Given the description of an element on the screen output the (x, y) to click on. 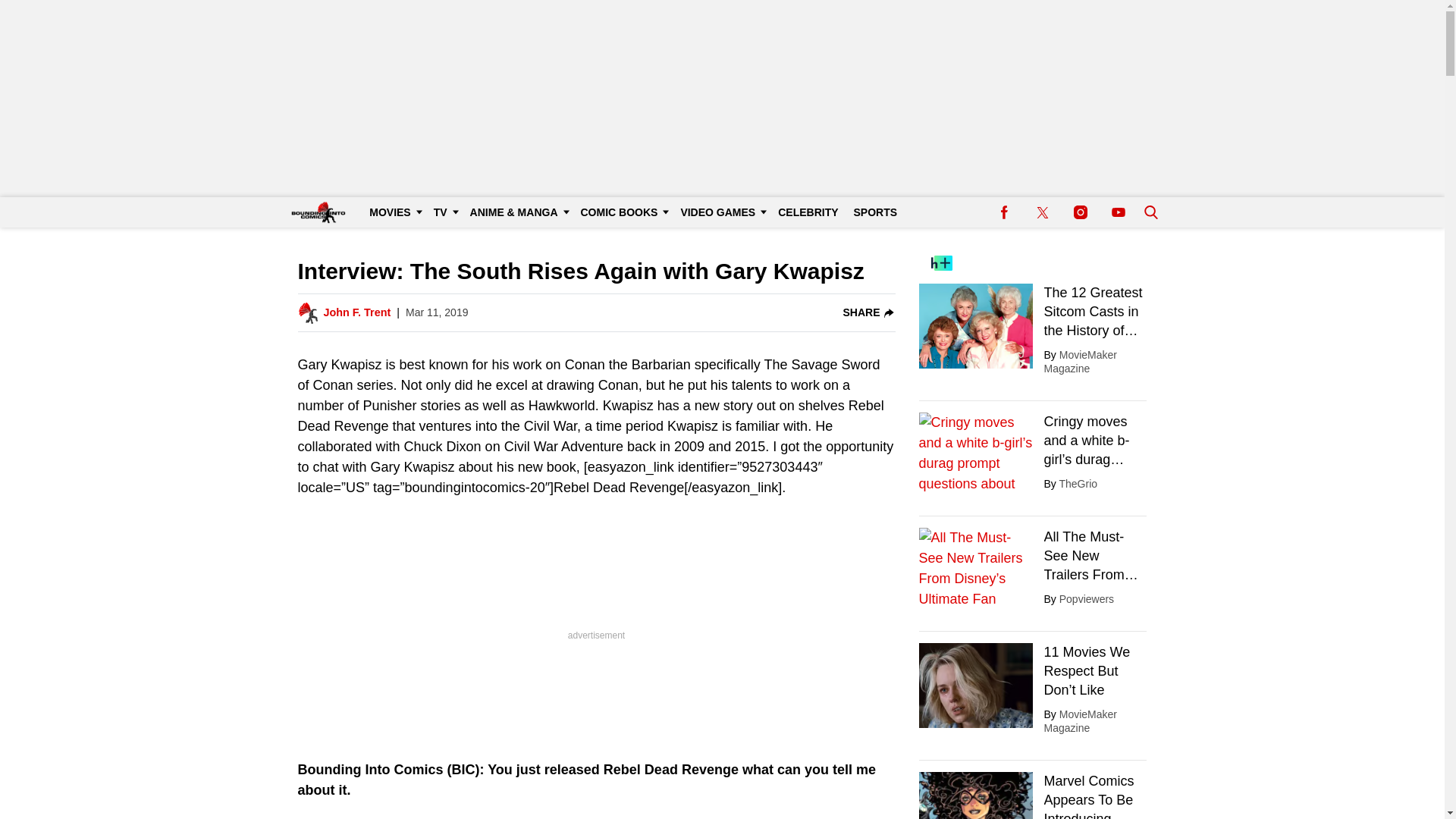
Subscribe to our YouTube channel (1118, 212)
SPORTS (875, 212)
MOVIES (393, 212)
John F. Trent (356, 312)
Follow us on Facebook (1004, 212)
Follow us on Twitter (1042, 212)
TV (444, 212)
Follow us on Instagram (1080, 212)
Posts by John F. Trent (356, 312)
CELEBRITY (807, 212)
